Given the description of an element on the screen output the (x, y) to click on. 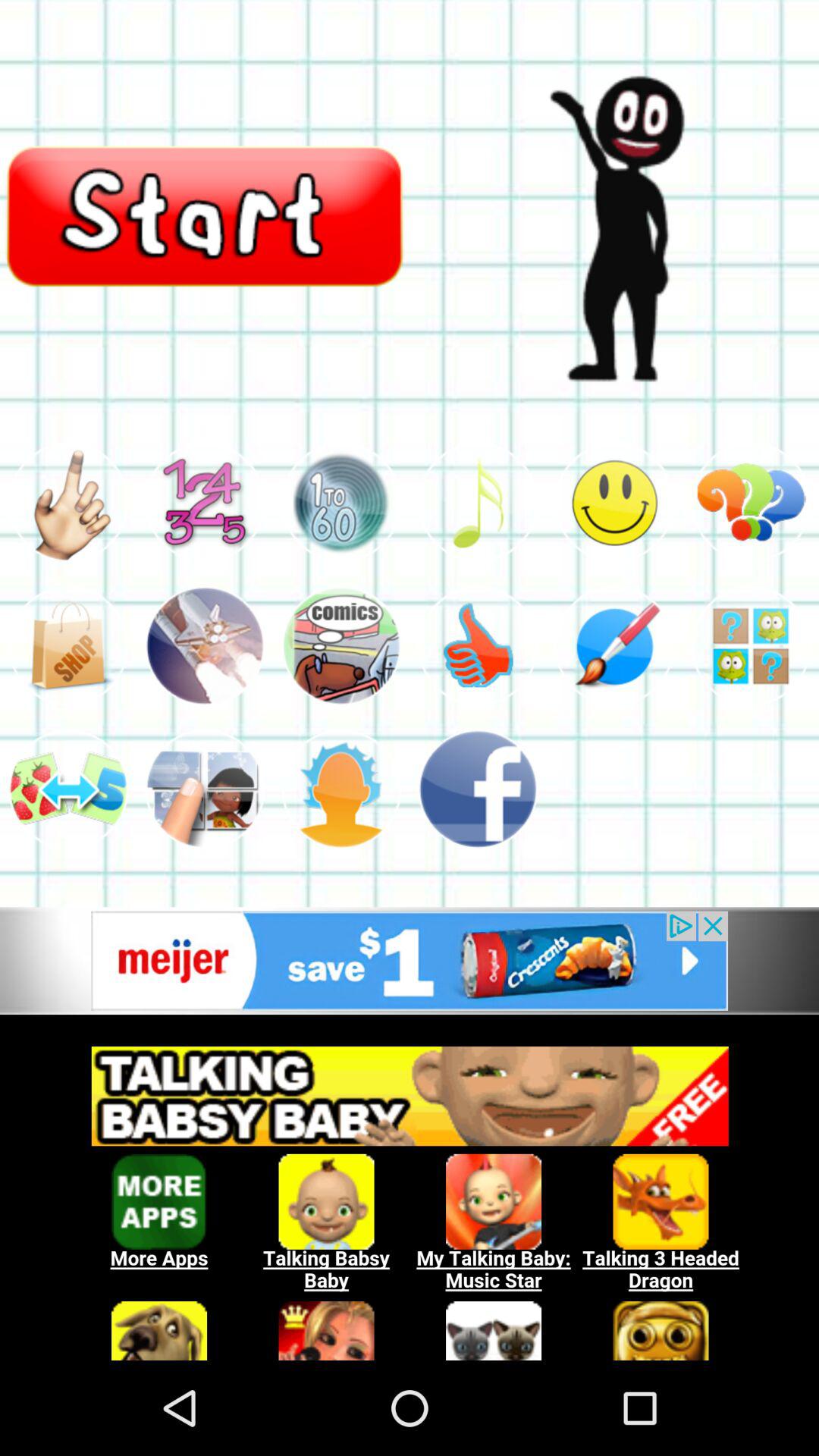
select item (204, 789)
